Given the description of an element on the screen output the (x, y) to click on. 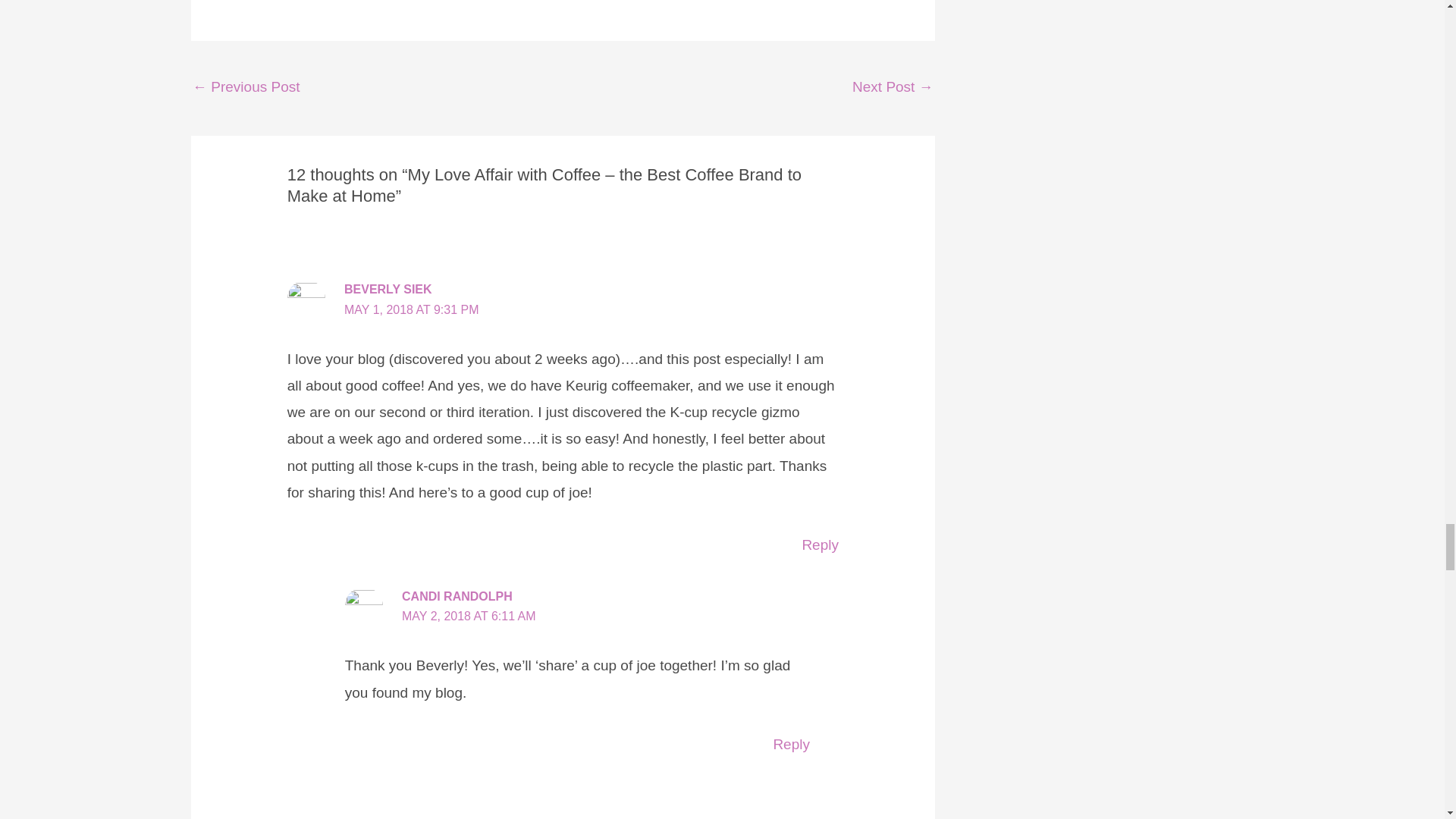
Why I Decided to Create a Lifestyle Blog (892, 87)
Work With Me, Candi Randolph, Midlife Blogger (245, 87)
